Given the description of an element on the screen output the (x, y) to click on. 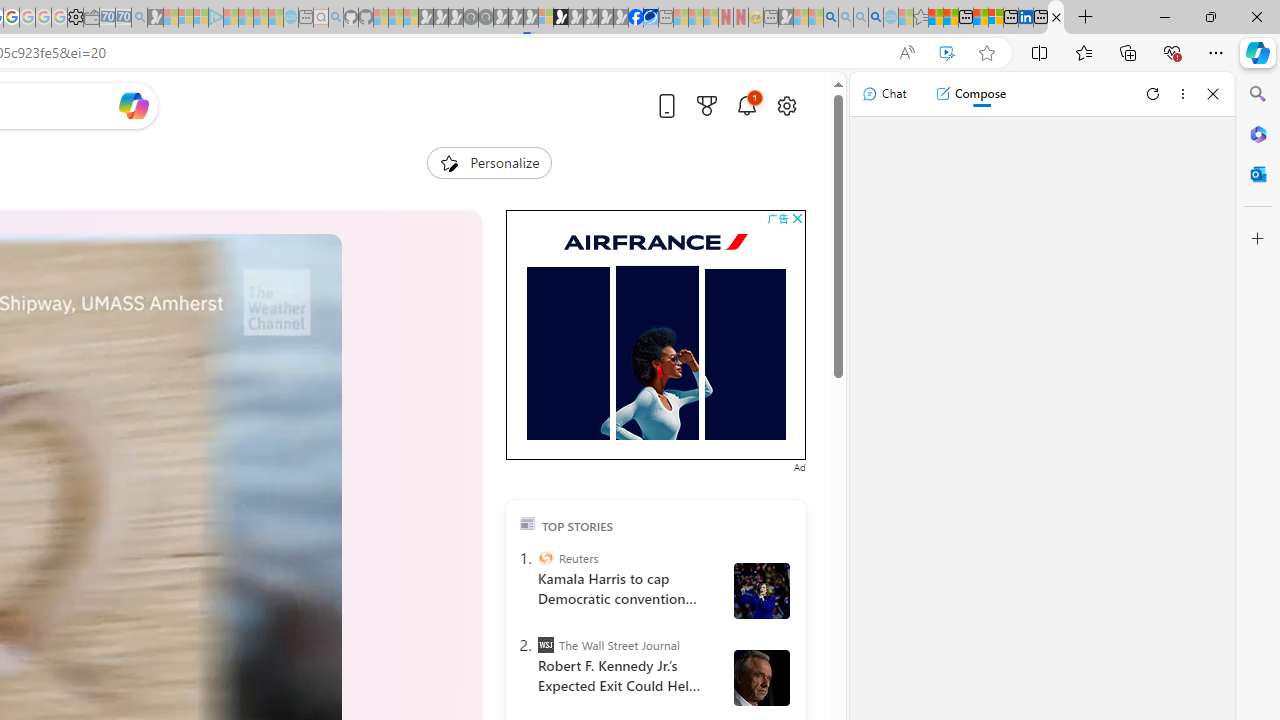
Personalize (488, 162)
Aberdeen, Hong Kong SAR weather forecast | Microsoft Weather (950, 17)
